Given the description of an element on the screen output the (x, y) to click on. 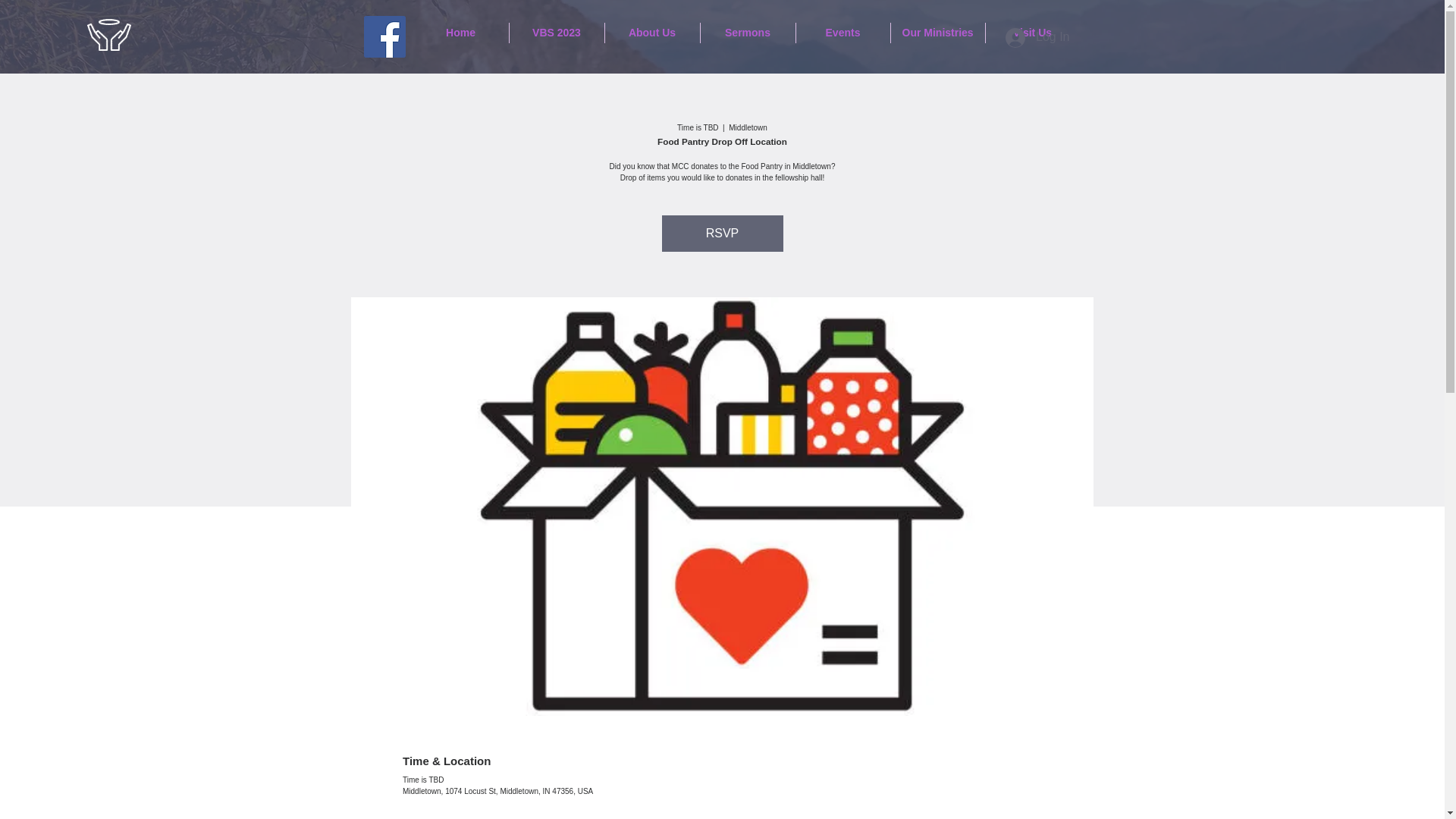
Visit Us (1032, 32)
Our Ministries (936, 32)
Log In (1037, 36)
VBS 2023 (556, 32)
Events (842, 32)
Home (460, 32)
RSVP (722, 233)
Sermons (747, 32)
About Us (652, 32)
